Given the description of an element on the screen output the (x, y) to click on. 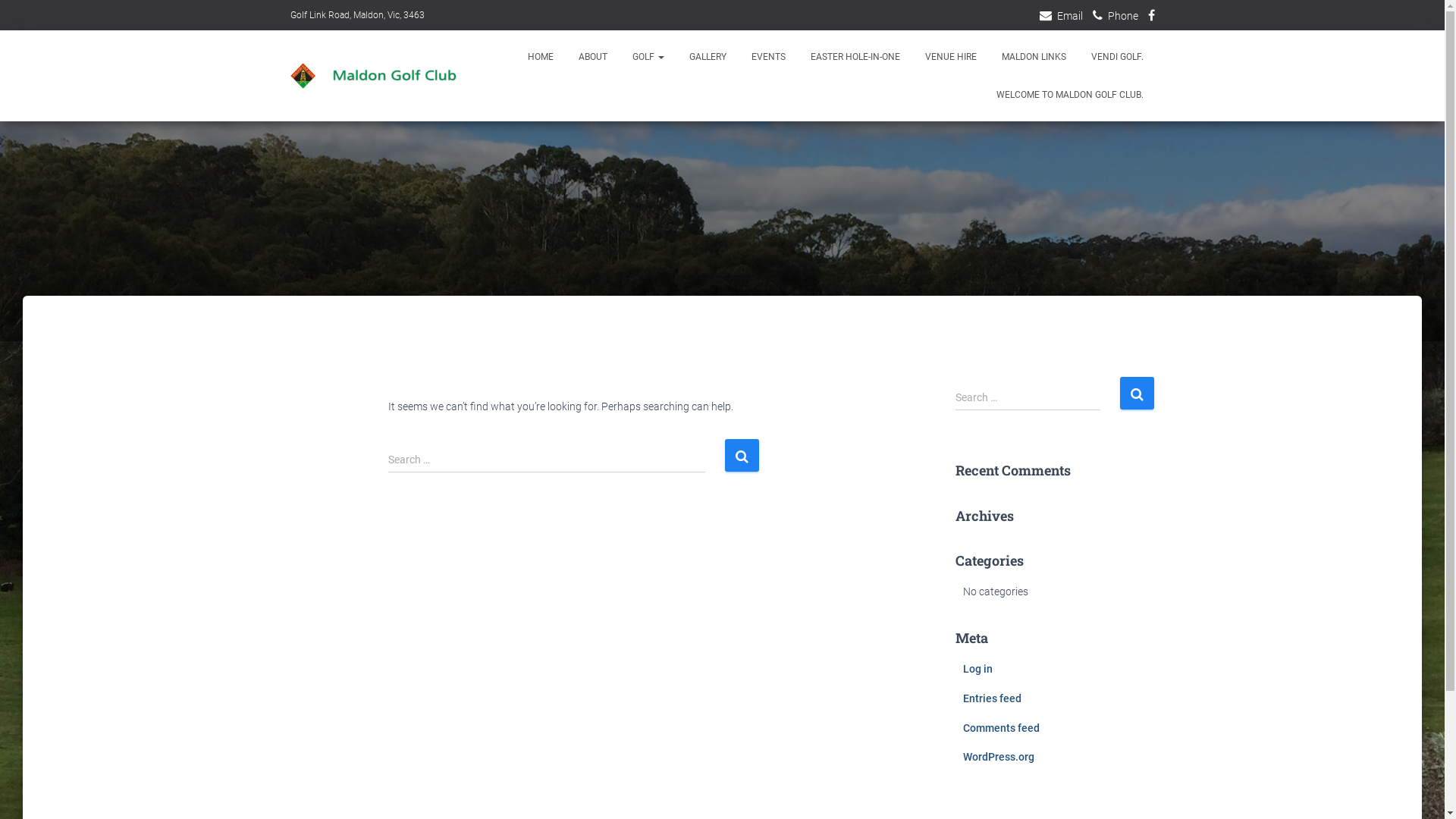
GALLERY Element type: text (707, 56)
Comments feed Element type: text (1001, 727)
VENDI GOLF. Element type: text (1116, 56)
Phone Element type: text (1114, 15)
EASTER HOLE-IN-ONE Element type: text (855, 56)
Search Element type: text (1136, 392)
Search Element type: text (741, 455)
Facebook Element type: text (1151, 17)
EVENTS Element type: text (768, 56)
HOME Element type: text (539, 56)
Maldon Golf Club Element type: hover (384, 74)
WELCOME TO MALDON GOLF CLUB. Element type: text (1069, 94)
ABOUT Element type: text (592, 56)
Log in Element type: text (977, 668)
GOLF Element type: text (647, 56)
Email Element type: text (1060, 15)
Entries feed Element type: text (992, 698)
VENUE HIRE Element type: text (950, 56)
WordPress.org Element type: text (998, 756)
MALDON LINKS Element type: text (1033, 56)
